Given the description of an element on the screen output the (x, y) to click on. 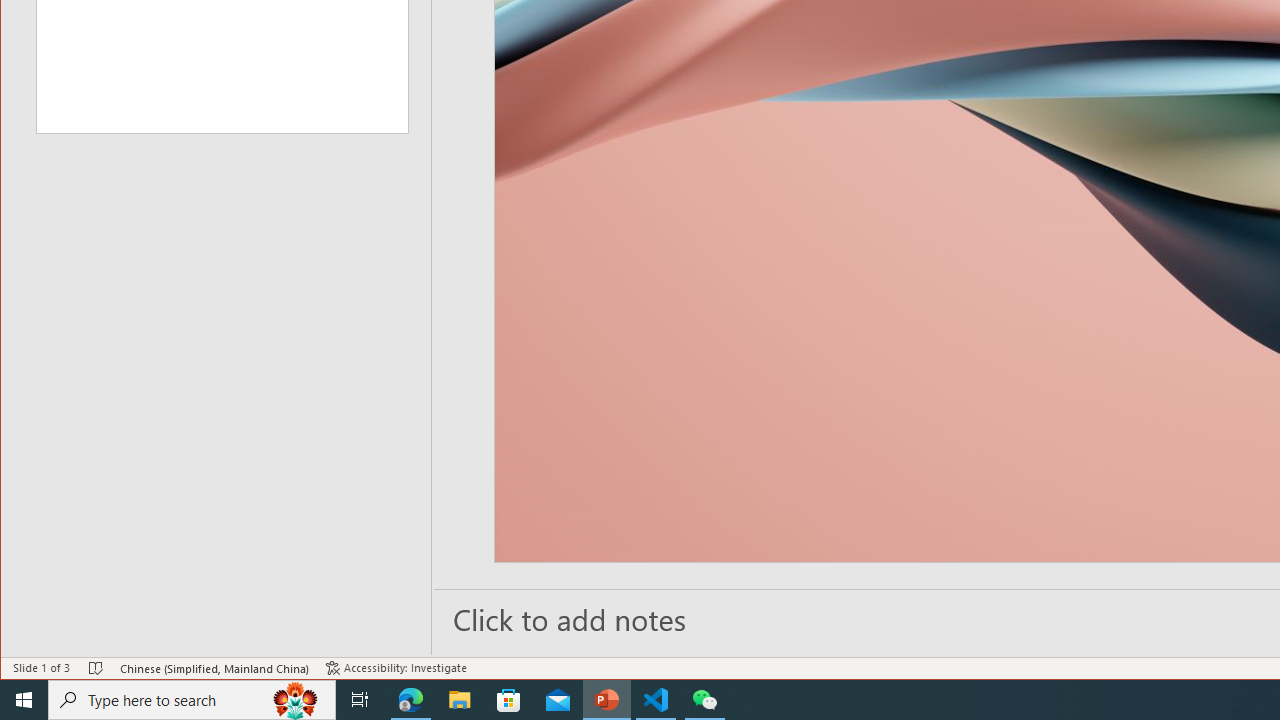
WeChat - 1 running window (704, 699)
